Given the description of an element on the screen output the (x, y) to click on. 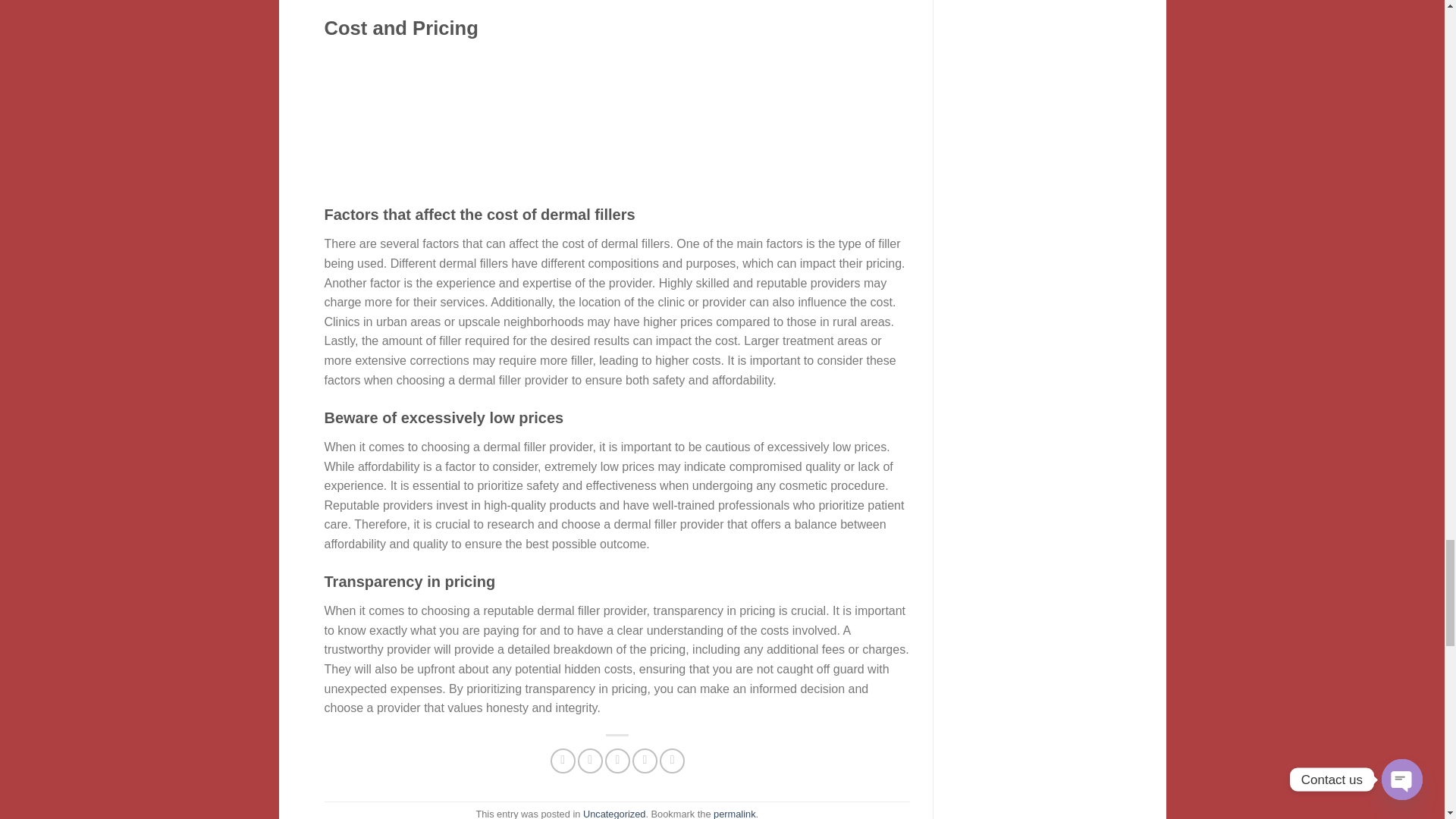
Pin on Pinterest (644, 760)
Email to a Friend (617, 760)
Share on LinkedIn (671, 760)
Share on Facebook (562, 760)
Share on Twitter (590, 760)
